Given the description of an element on the screen output the (x, y) to click on. 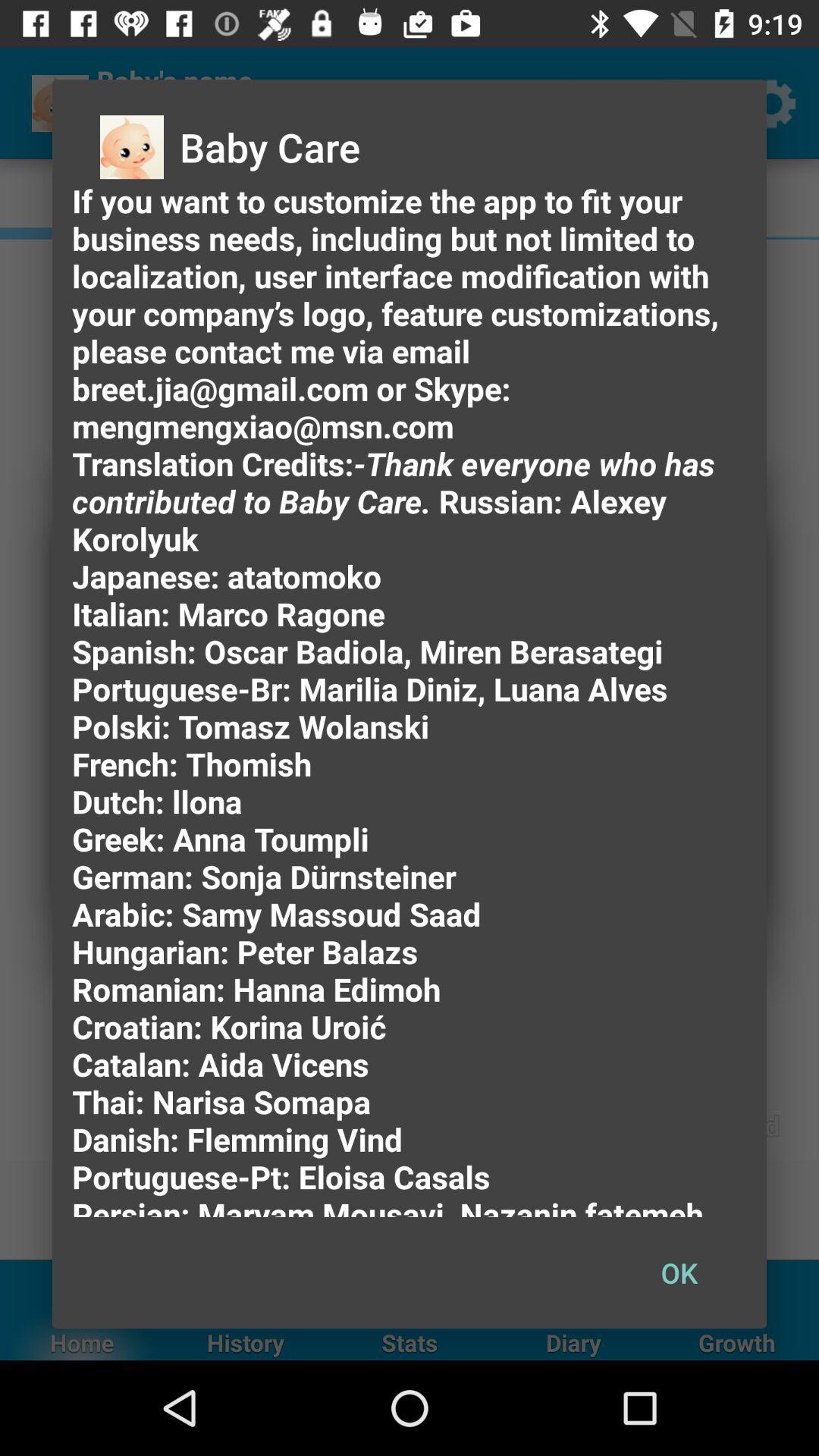
launch the ok (678, 1272)
